Given the description of an element on the screen output the (x, y) to click on. 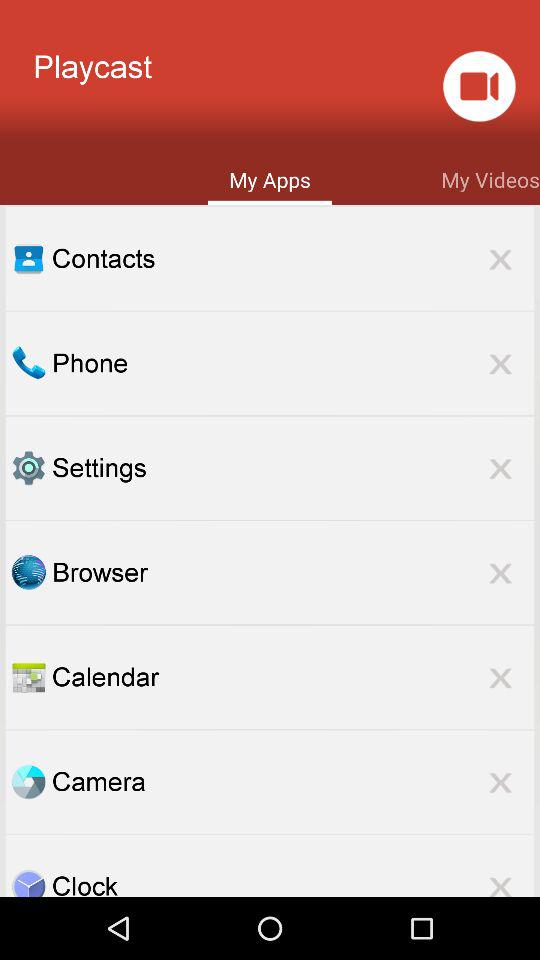
turn on icon next to the playcast icon (478, 85)
